Given the description of an element on the screen output the (x, y) to click on. 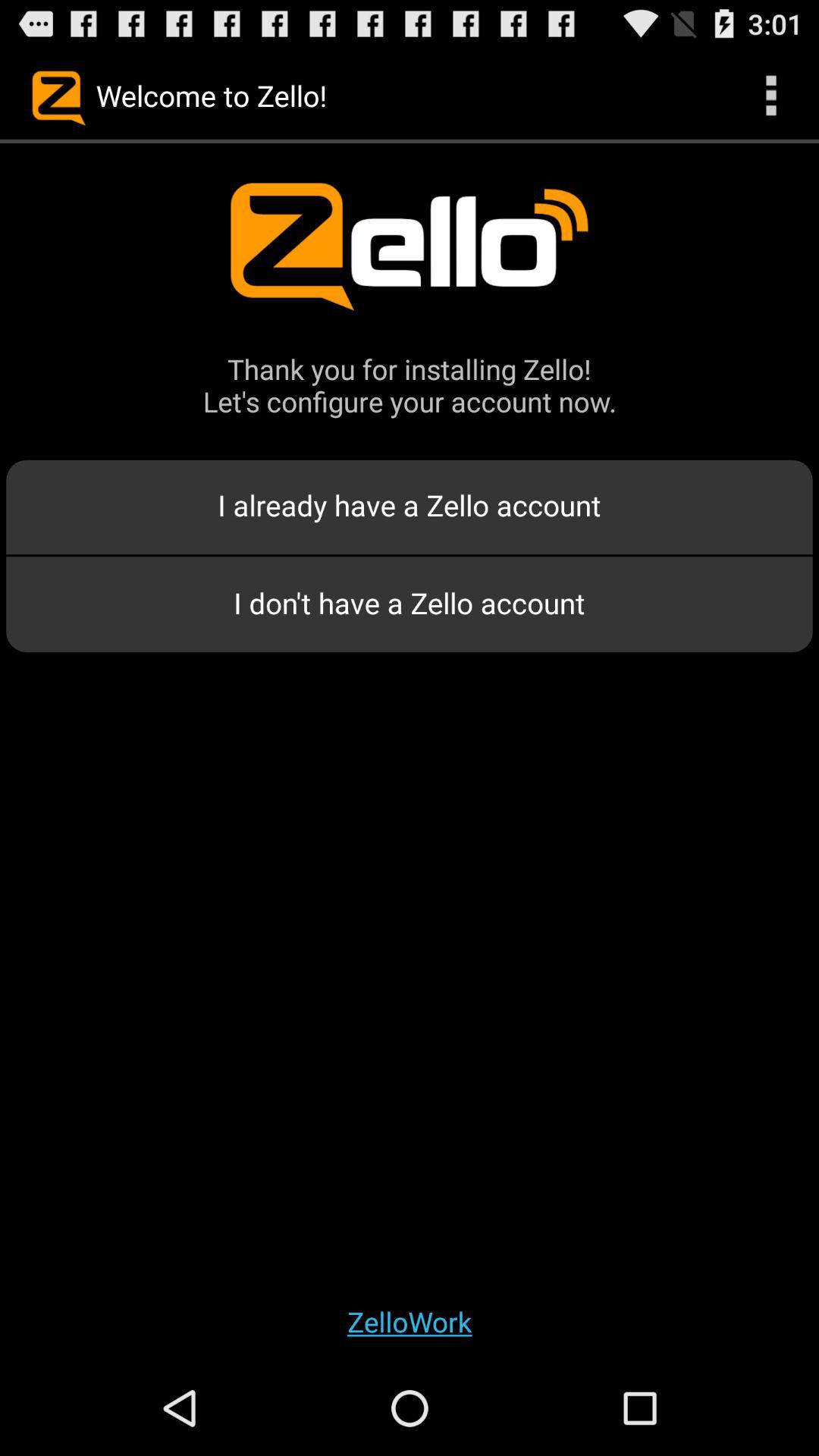
press the item above the thank you for app (771, 95)
